Given the description of an element on the screen output the (x, y) to click on. 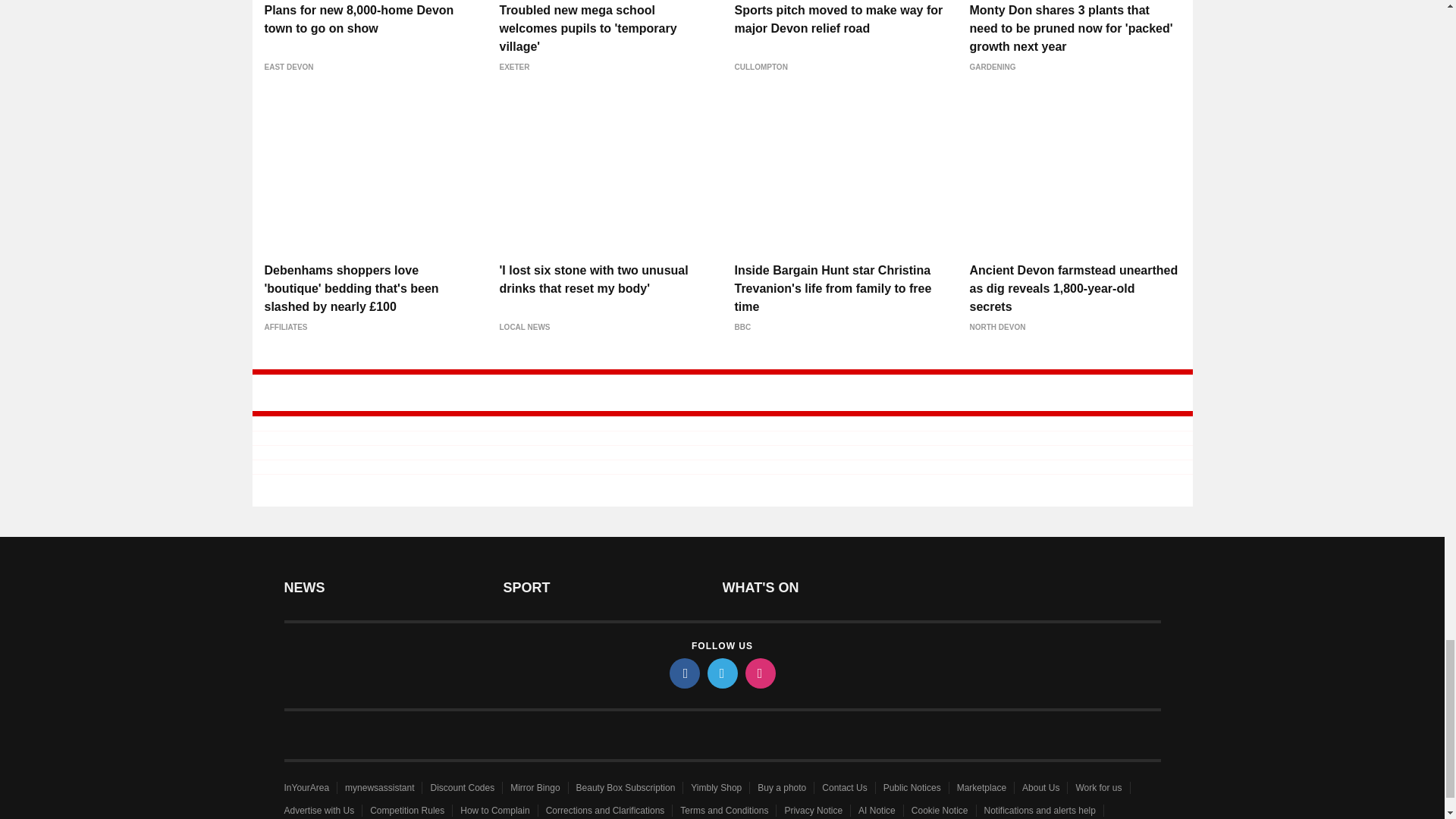
twitter (721, 673)
instagram (759, 673)
facebook (683, 673)
